Given the description of an element on the screen output the (x, y) to click on. 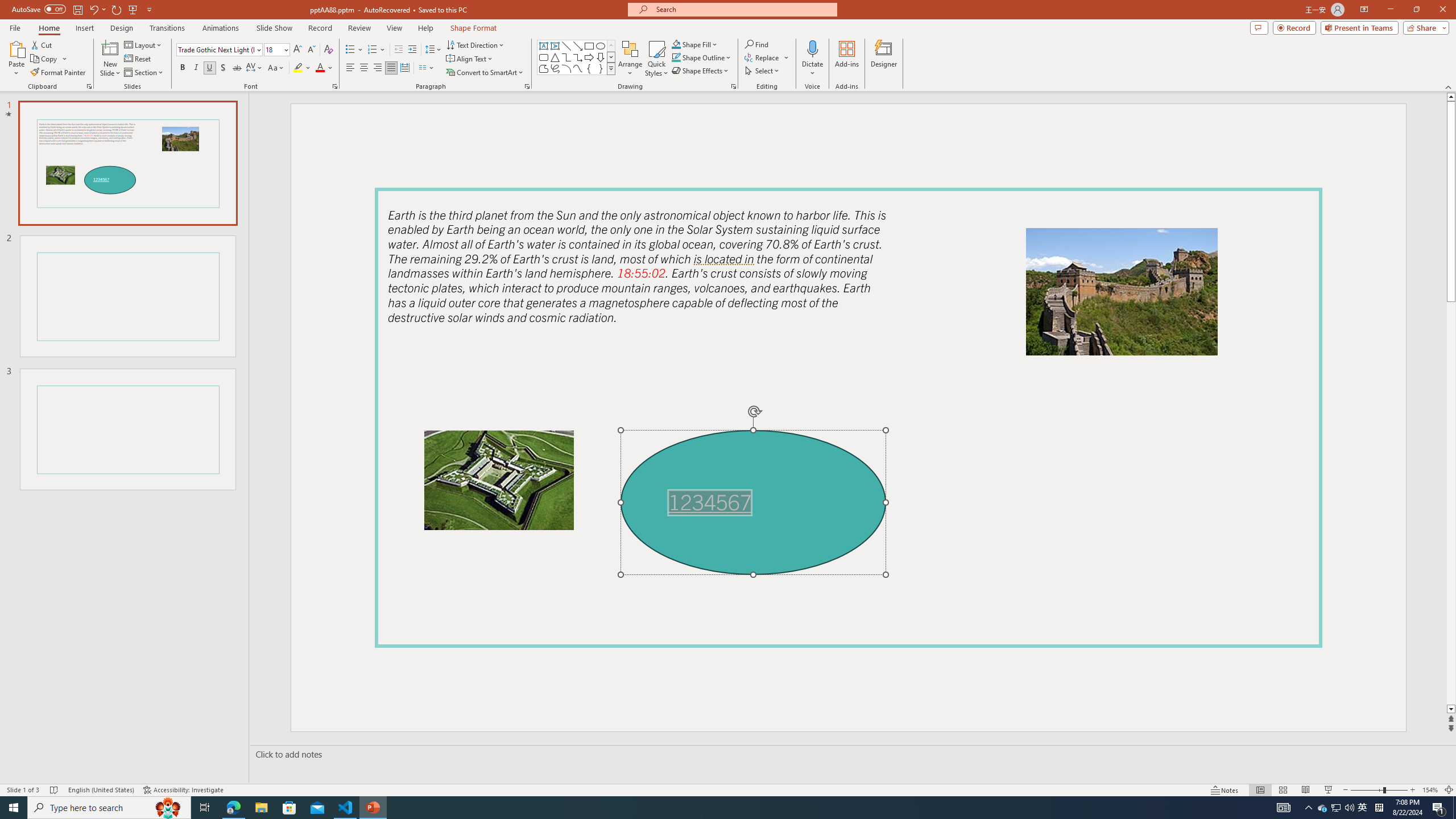
Shape Fill Aqua, Accent 2 (675, 44)
